Given the description of an element on the screen output the (x, y) to click on. 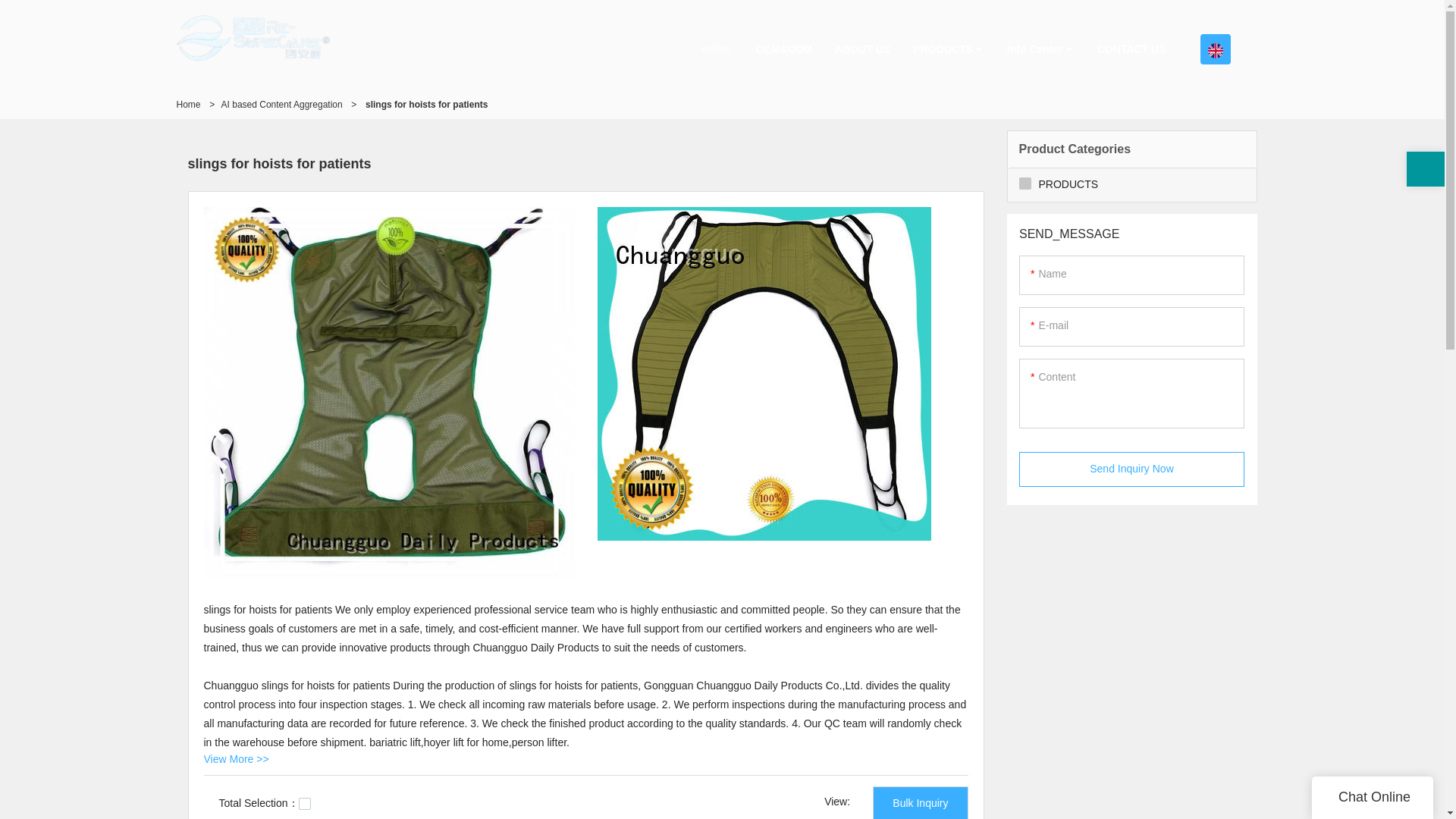
Home (188, 104)
CONTACT US (1131, 49)
Info Center (1040, 49)
ABOUT US (862, 49)
PRODUCTS (948, 49)
AI based Content Aggregation (281, 104)
on (304, 803)
